Given the description of an element on the screen output the (x, y) to click on. 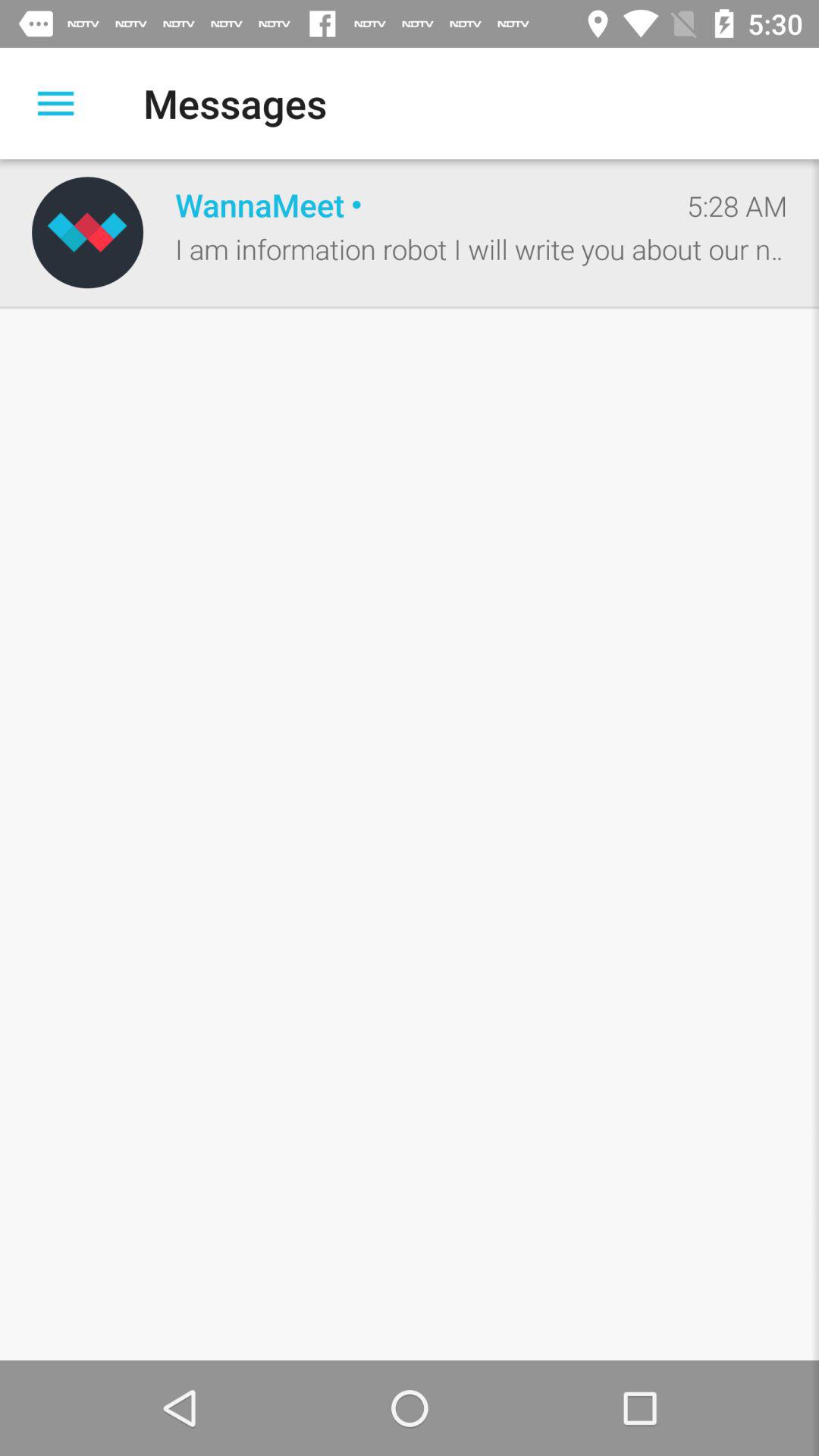
click the item to the left of the 5:28 am item (415, 204)
